Given the description of an element on the screen output the (x, y) to click on. 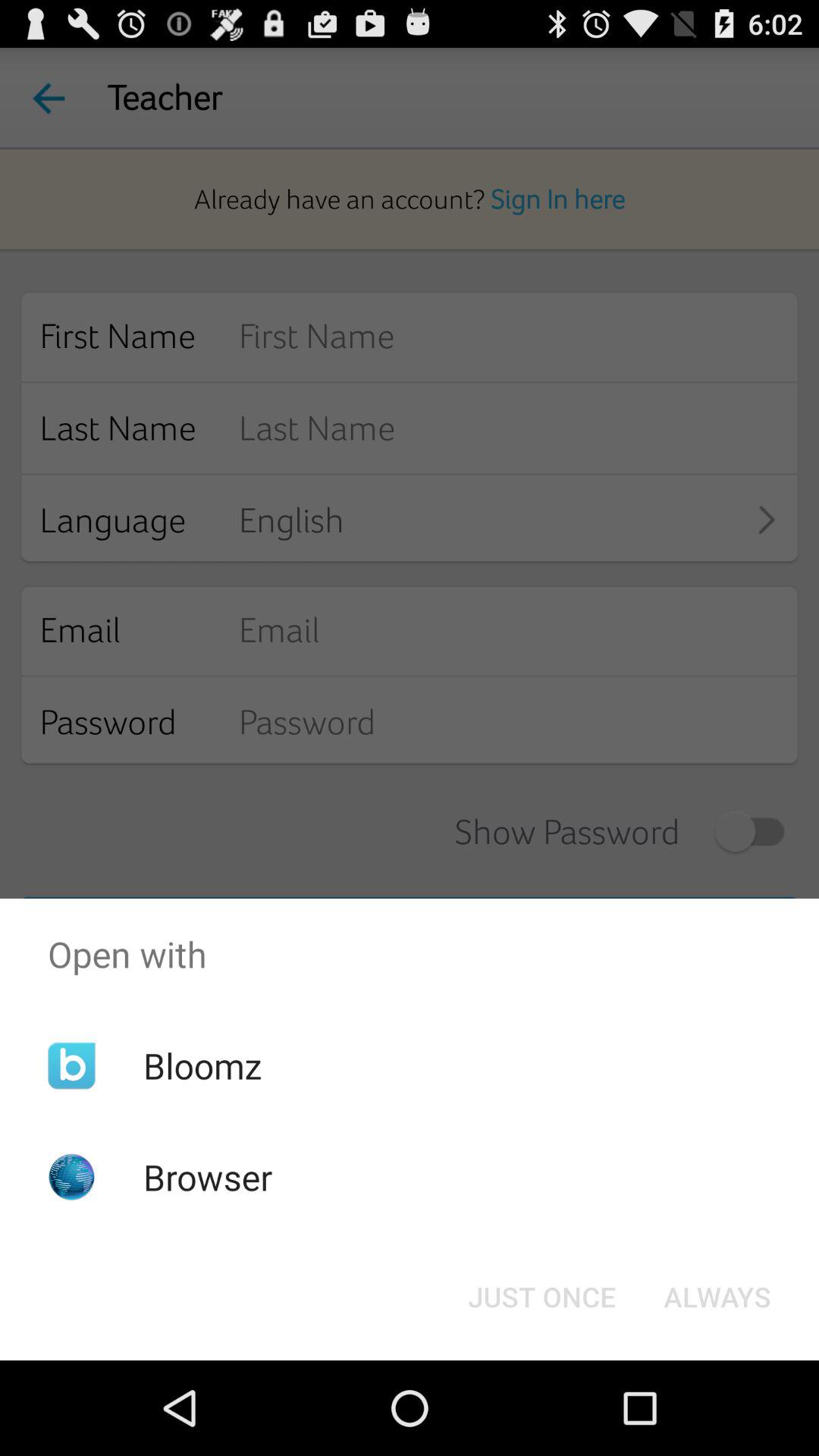
launch the bloomz app (202, 1065)
